Given the description of an element on the screen output the (x, y) to click on. 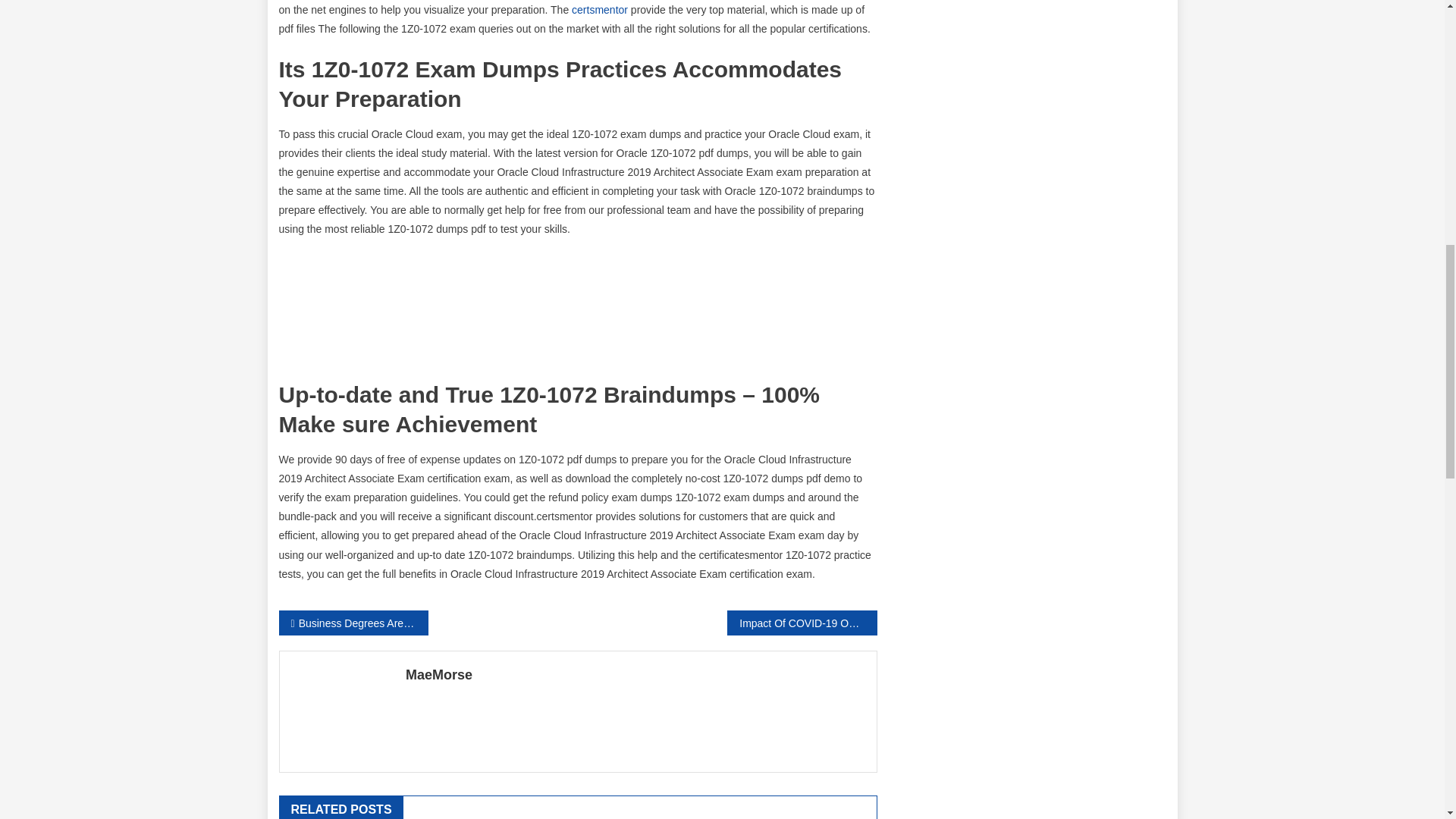
MaeMorse (635, 674)
certsmentor (599, 9)
